Given the description of an element on the screen output the (x, y) to click on. 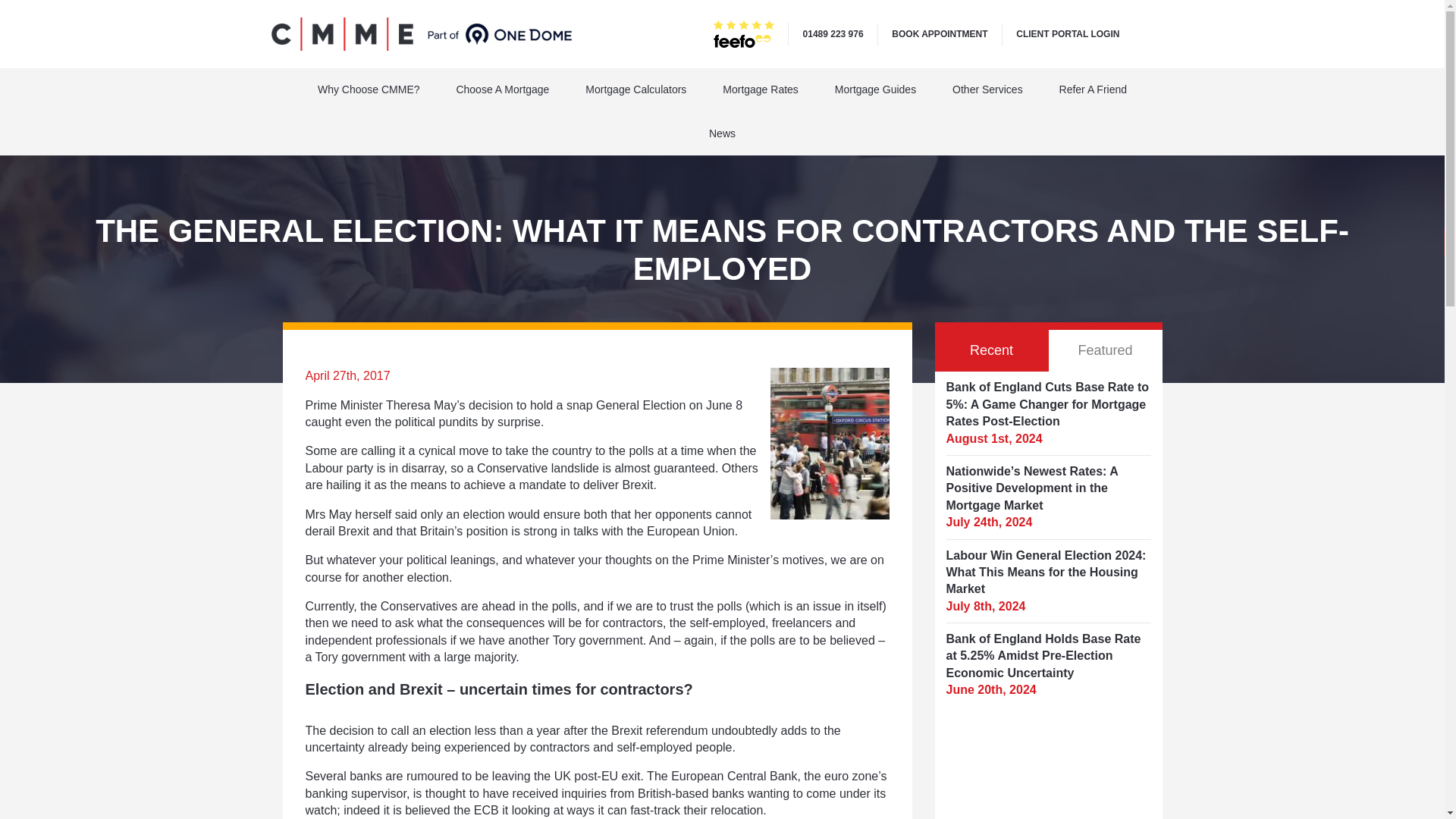
01489 223 976 (833, 33)
CLIENT PORTAL LOGIN (1067, 33)
Choose A Mortgage (502, 89)
BOOK APPOINTMENT (939, 33)
Why Choose CMME? (368, 89)
